Given the description of an element on the screen output the (x, y) to click on. 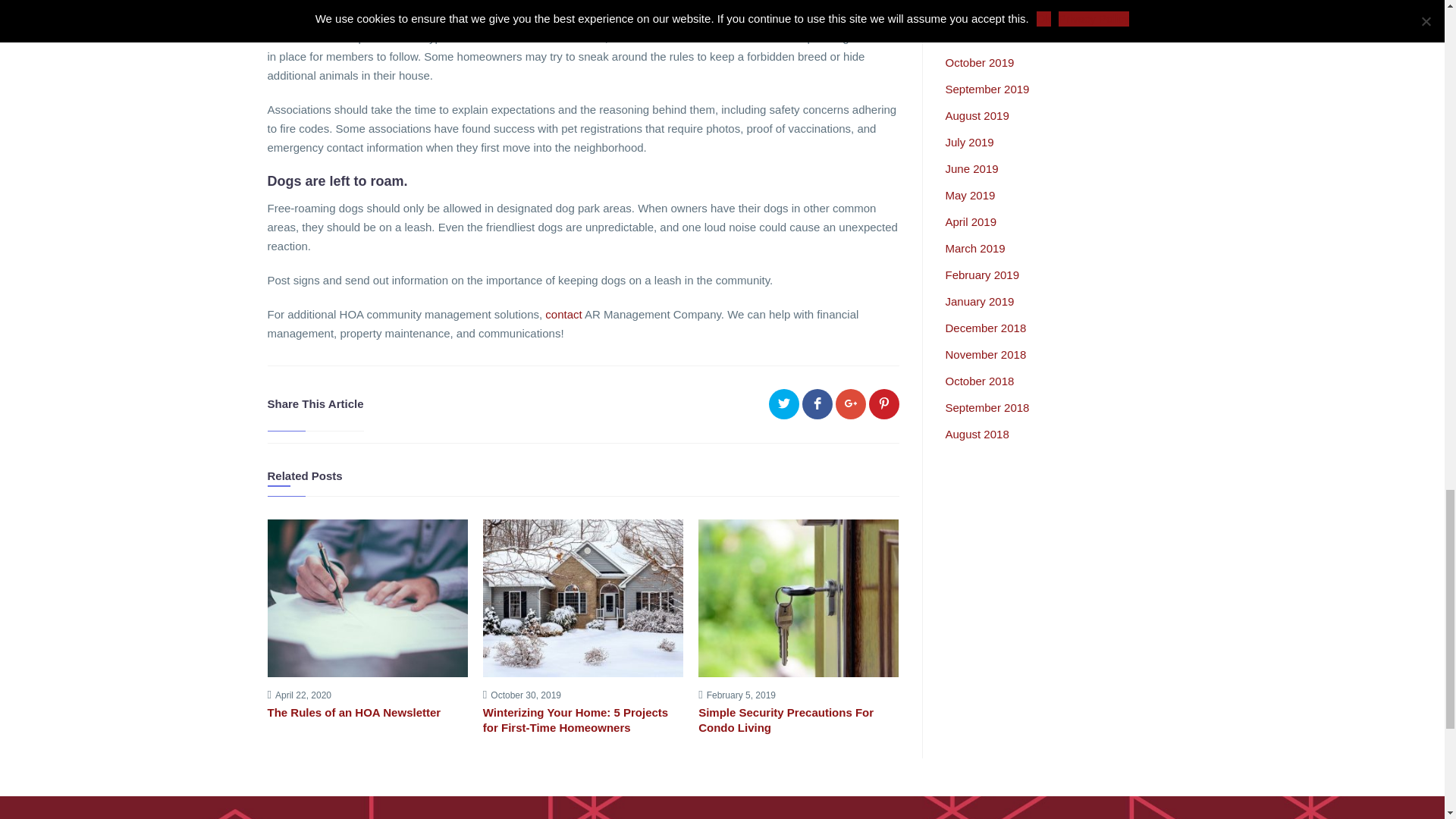
Share on Facebook (817, 404)
The Rules of an HOA Newsletter (366, 712)
contact (562, 314)
Share on Pinterest (884, 404)
Simple Security Precautions For Condo Living (798, 720)
Winterizing Your Home: 5 Projects for First-Time Homeowners (582, 720)
The Rules of an HOA Newsletter (366, 712)
Simple Security Precautions For Condo Living (798, 720)
Winterizing Your Home: 5 Projects for First-Time Homeowners (582, 720)
Share on Twitter (783, 404)
